Given the description of an element on the screen output the (x, y) to click on. 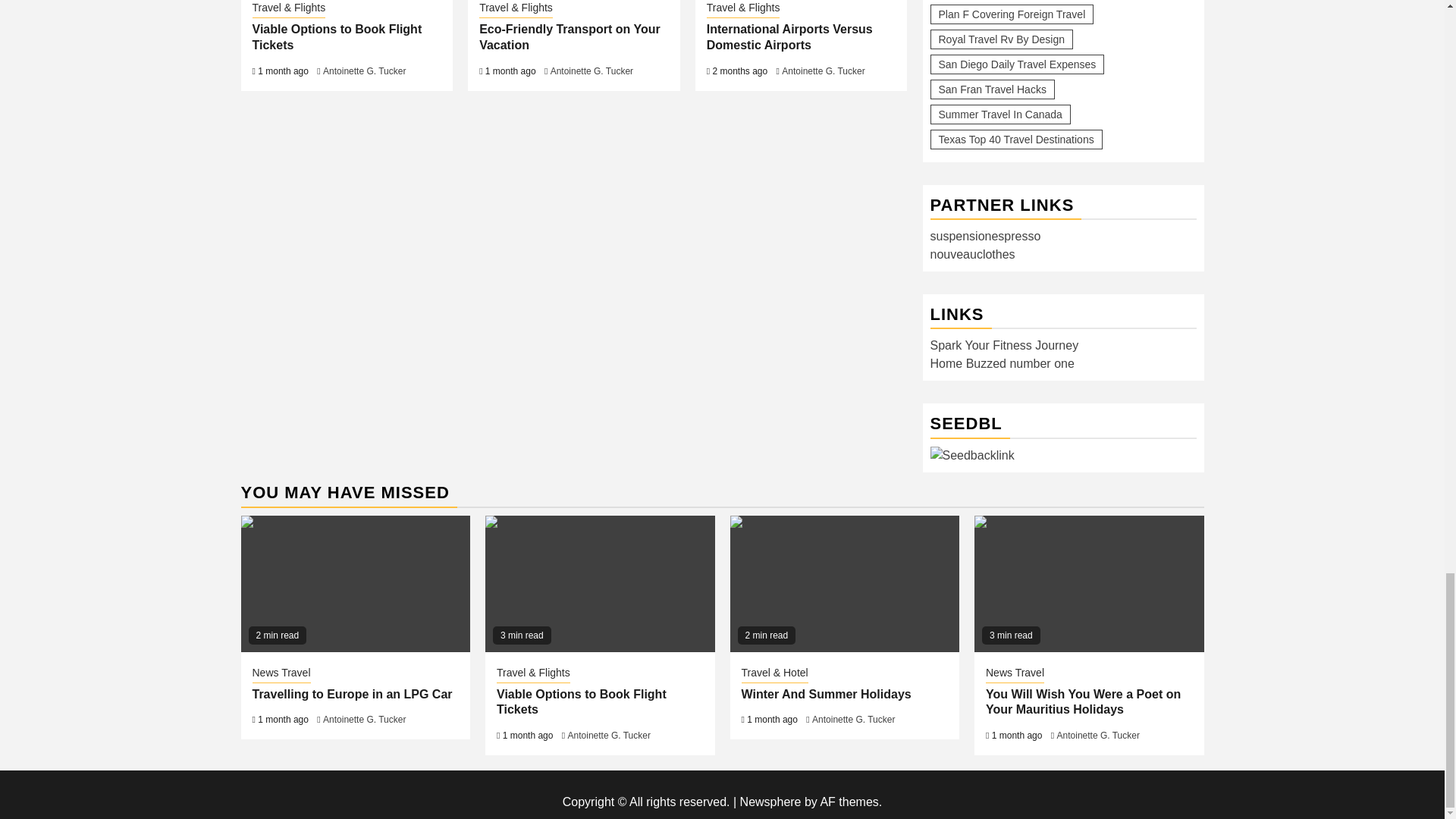
Travelling to Europe in an LPG Car (355, 583)
Winter And Summer Holidays (844, 583)
Seedbacklink (971, 455)
Viable Options to Book Flight Tickets (599, 583)
